Given the description of an element on the screen output the (x, y) to click on. 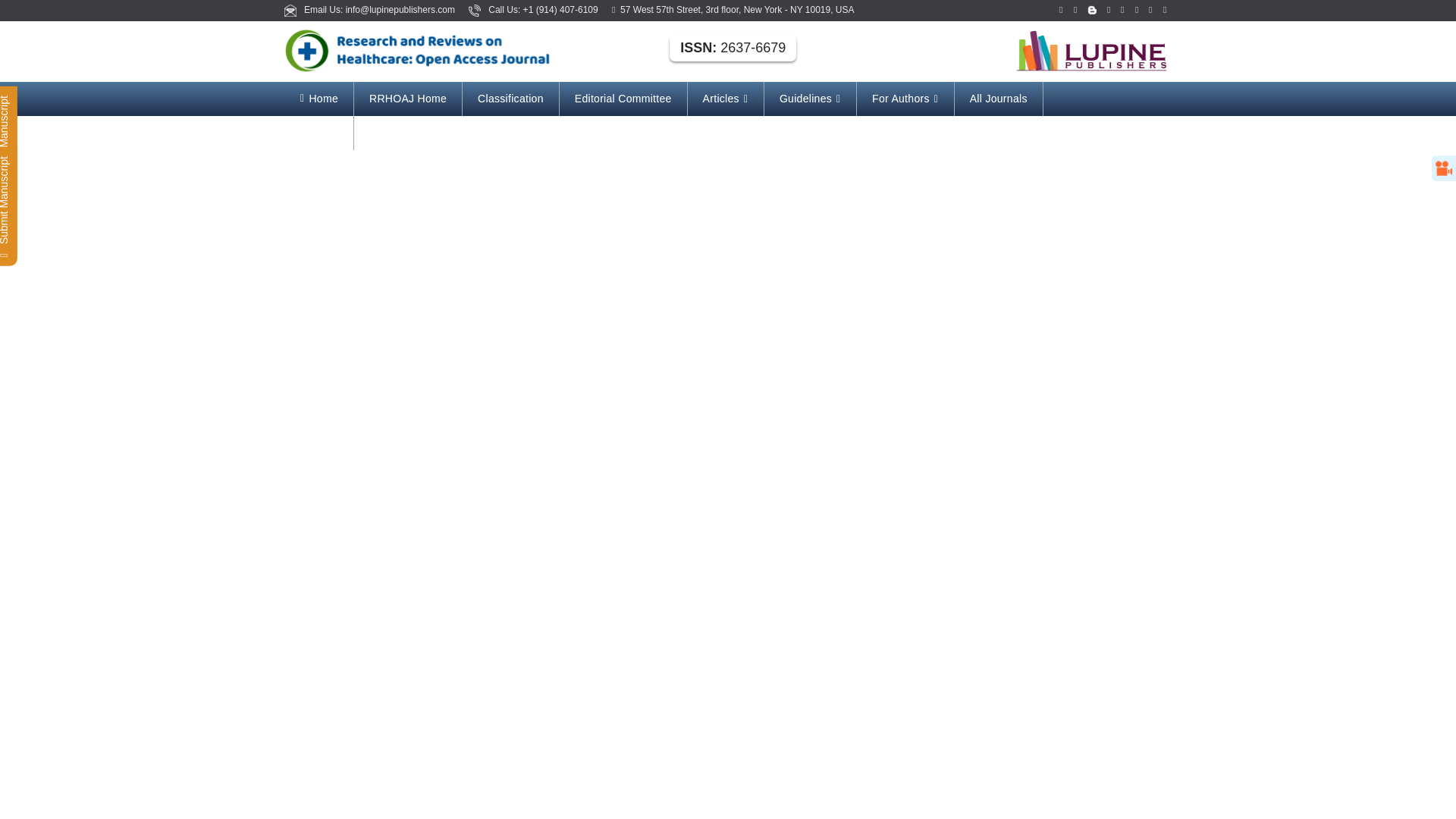
Articles (724, 98)
RRHOAJ Home (407, 98)
Guidelines (810, 98)
For Authors (905, 98)
Home (319, 98)
  Submit Manuscript (55, 99)
Editorial Committee (623, 98)
All Journals (998, 98)
Contact (319, 132)
Classification (511, 98)
